Given the description of an element on the screen output the (x, y) to click on. 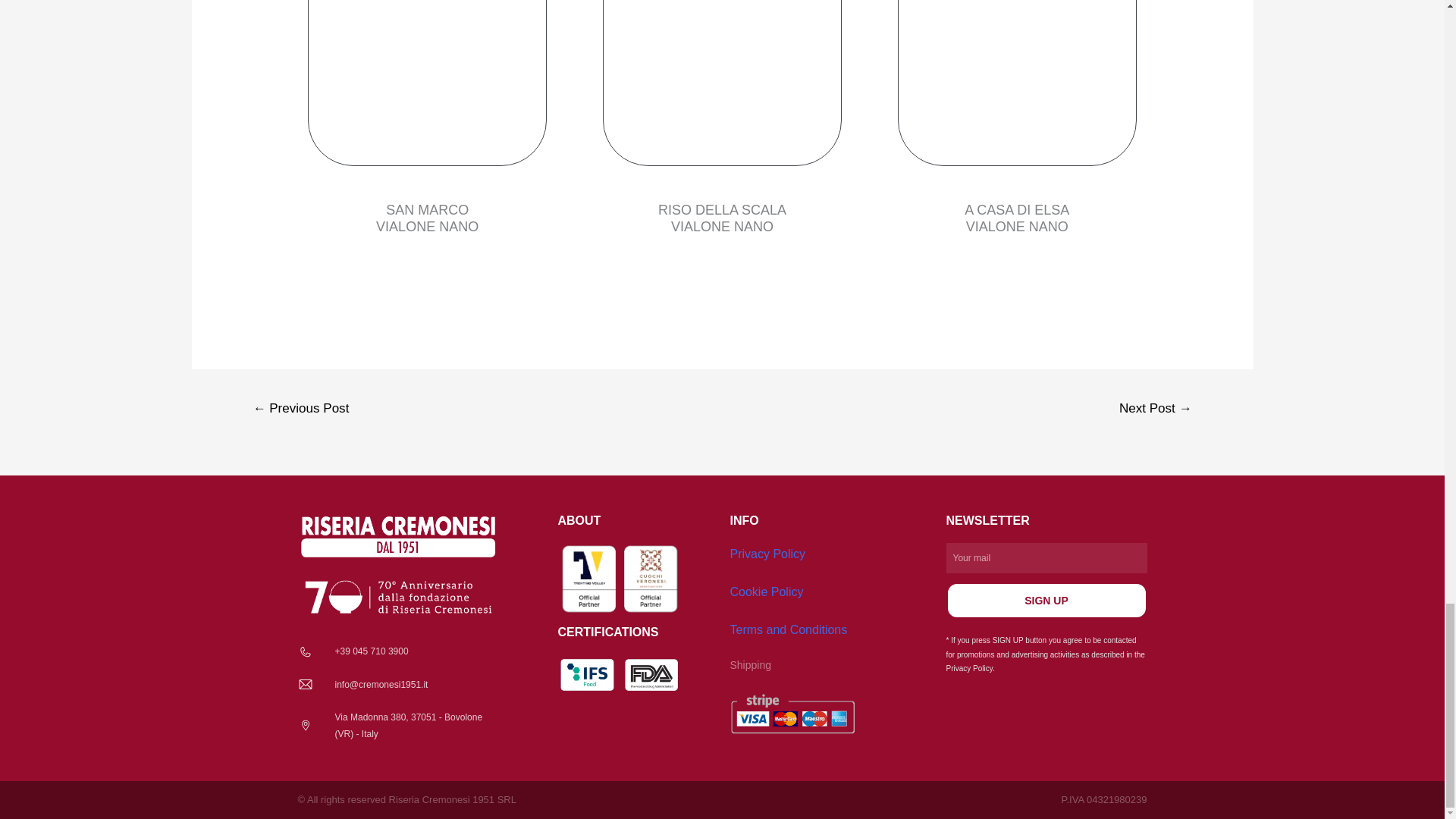
Cookie Policy  (766, 591)
Terms and Conditions  (788, 629)
Privacy Policy  (767, 553)
